Given the description of an element on the screen output the (x, y) to click on. 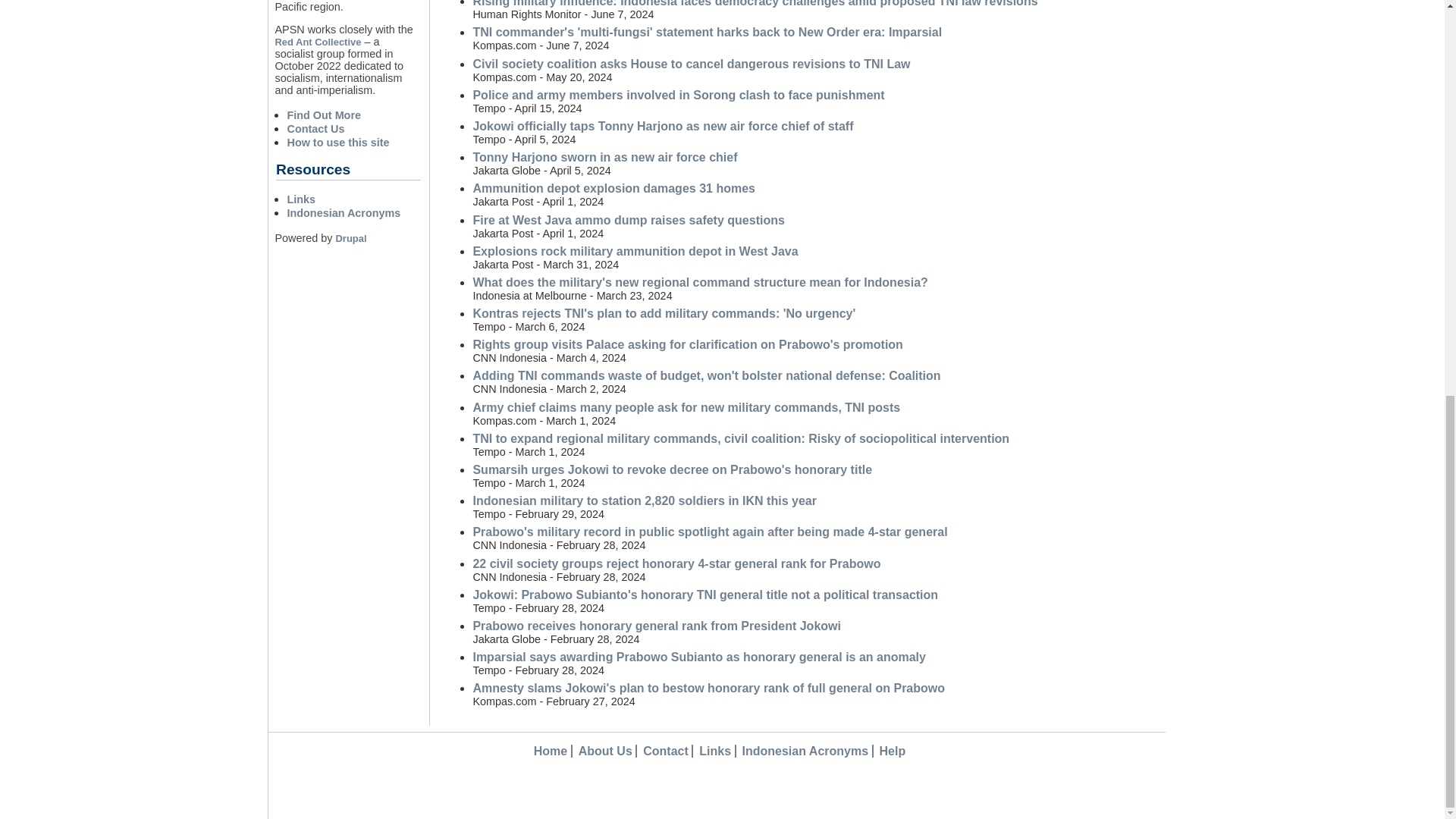
Tonny Harjono sworn in as new air force chief (603, 156)
Prabowo receives honorary general rank from President Jokowi (656, 625)
Ammunition depot explosion damages 31 homes (613, 187)
